Given the description of an element on the screen output the (x, y) to click on. 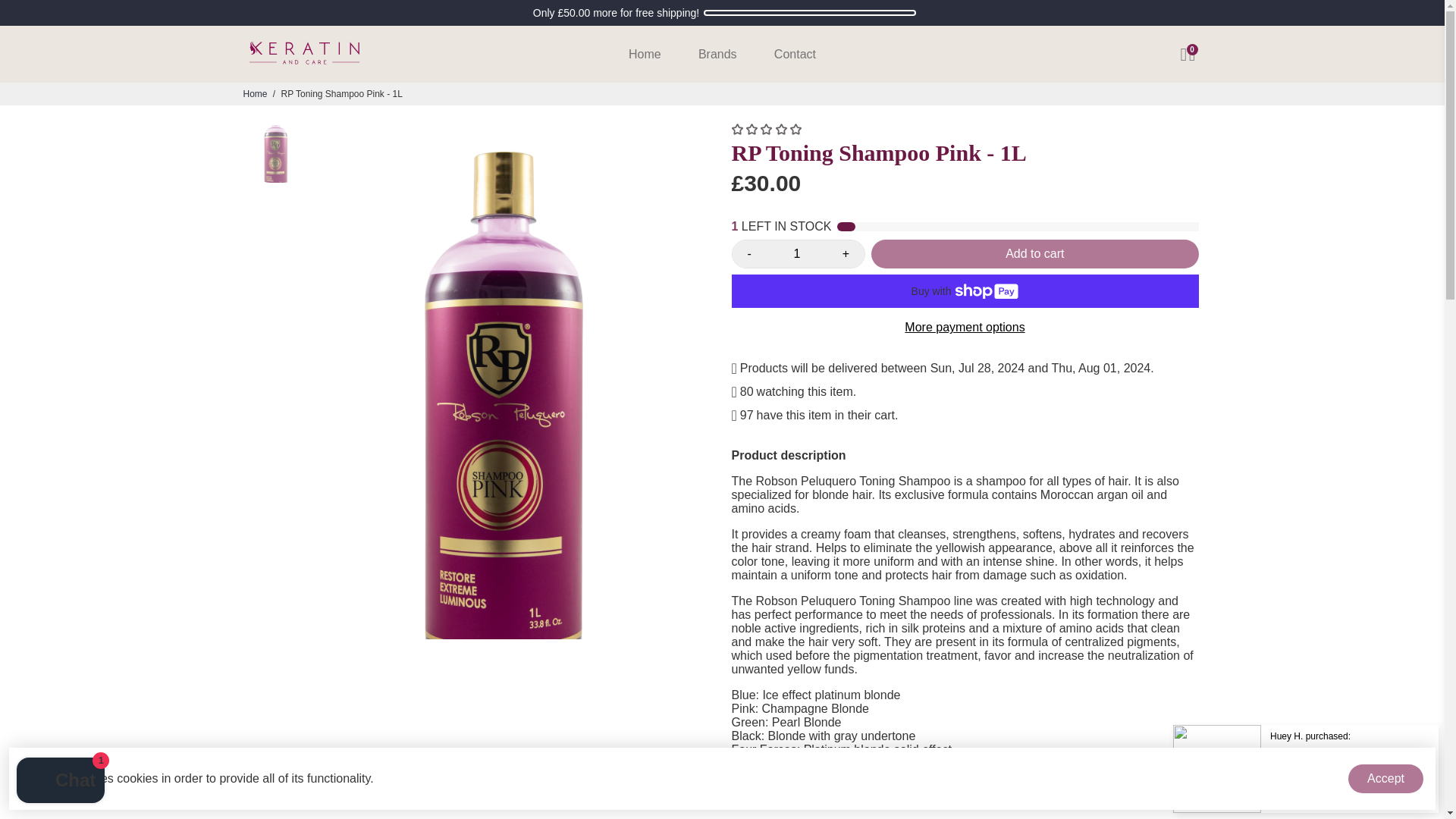
- (749, 253)
Shopify online store chat (60, 781)
Home (254, 93)
Home (644, 53)
toning (897, 793)
More payment options (964, 327)
Home (254, 93)
shampoo (841, 793)
Brands (717, 53)
Contact (794, 53)
1 (797, 253)
Add to cart (1034, 253)
professional (769, 793)
Treatment (955, 793)
